Given the description of an element on the screen output the (x, y) to click on. 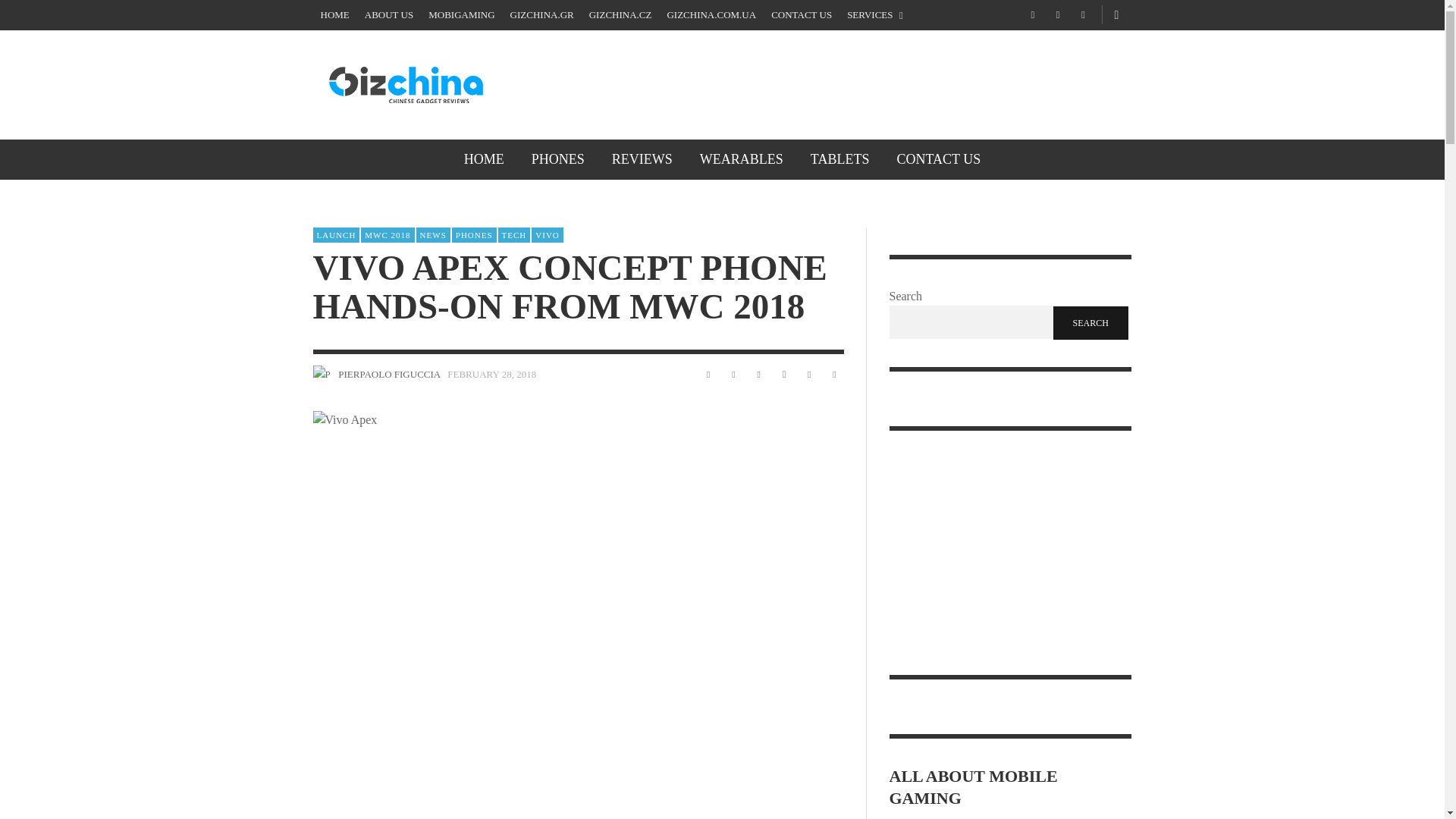
ABOUT US (388, 15)
MOBIGAMING (461, 15)
GIZCHINA.COM.UA (710, 15)
PHONES (558, 159)
GIZCHINA.CZ (619, 15)
HOME (483, 159)
GIZCHINA.GR (541, 15)
REVIEWS (641, 159)
CONTACT US (801, 15)
HOME (334, 15)
